Given the description of an element on the screen output the (x, y) to click on. 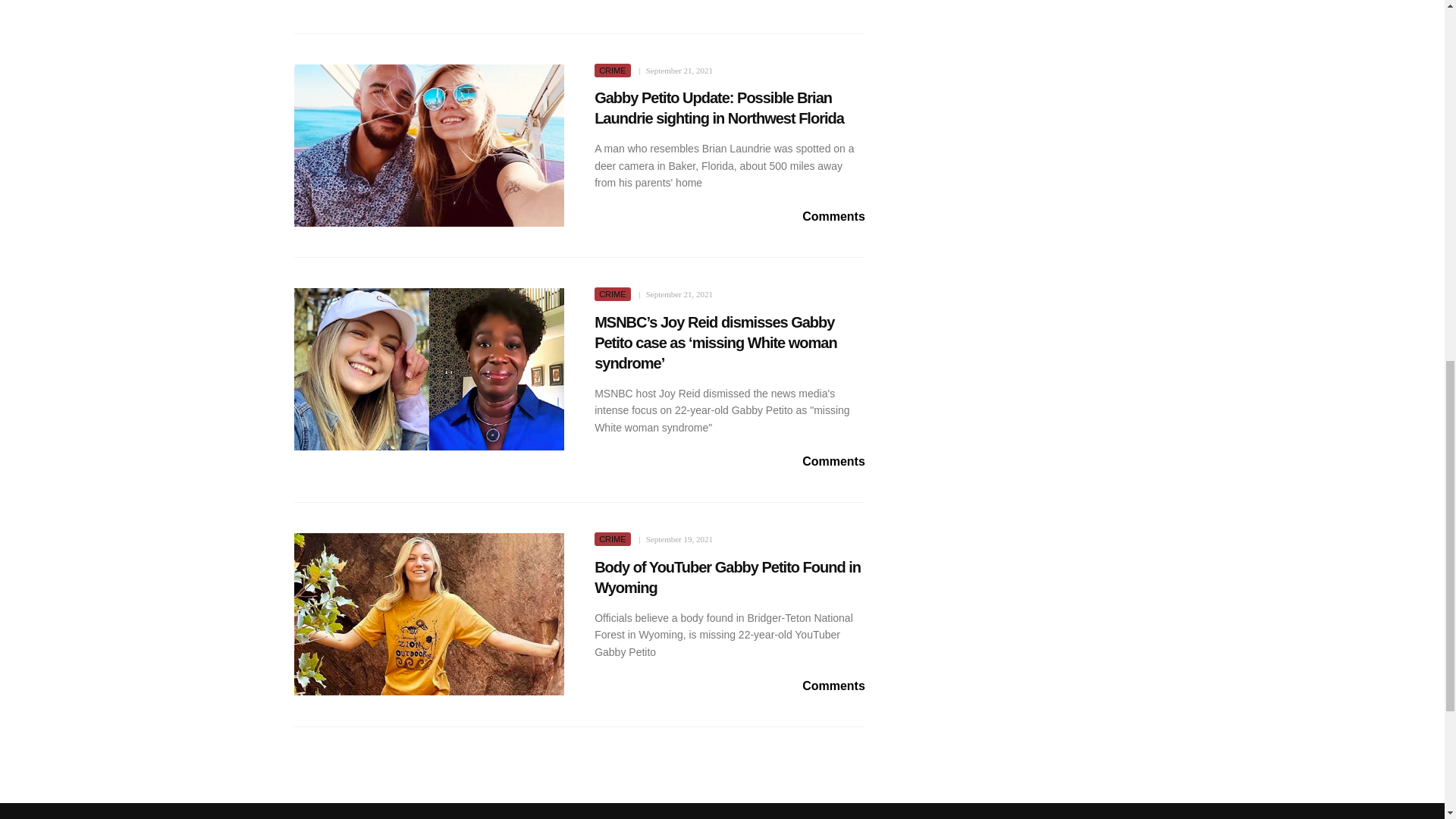
Body of YouTuber Gabby Petito Found in Wyoming (727, 577)
CRIME (612, 69)
Body of YouTuber Gabby Petito Found in Wyoming (429, 613)
Comments (833, 215)
